Given the description of an element on the screen output the (x, y) to click on. 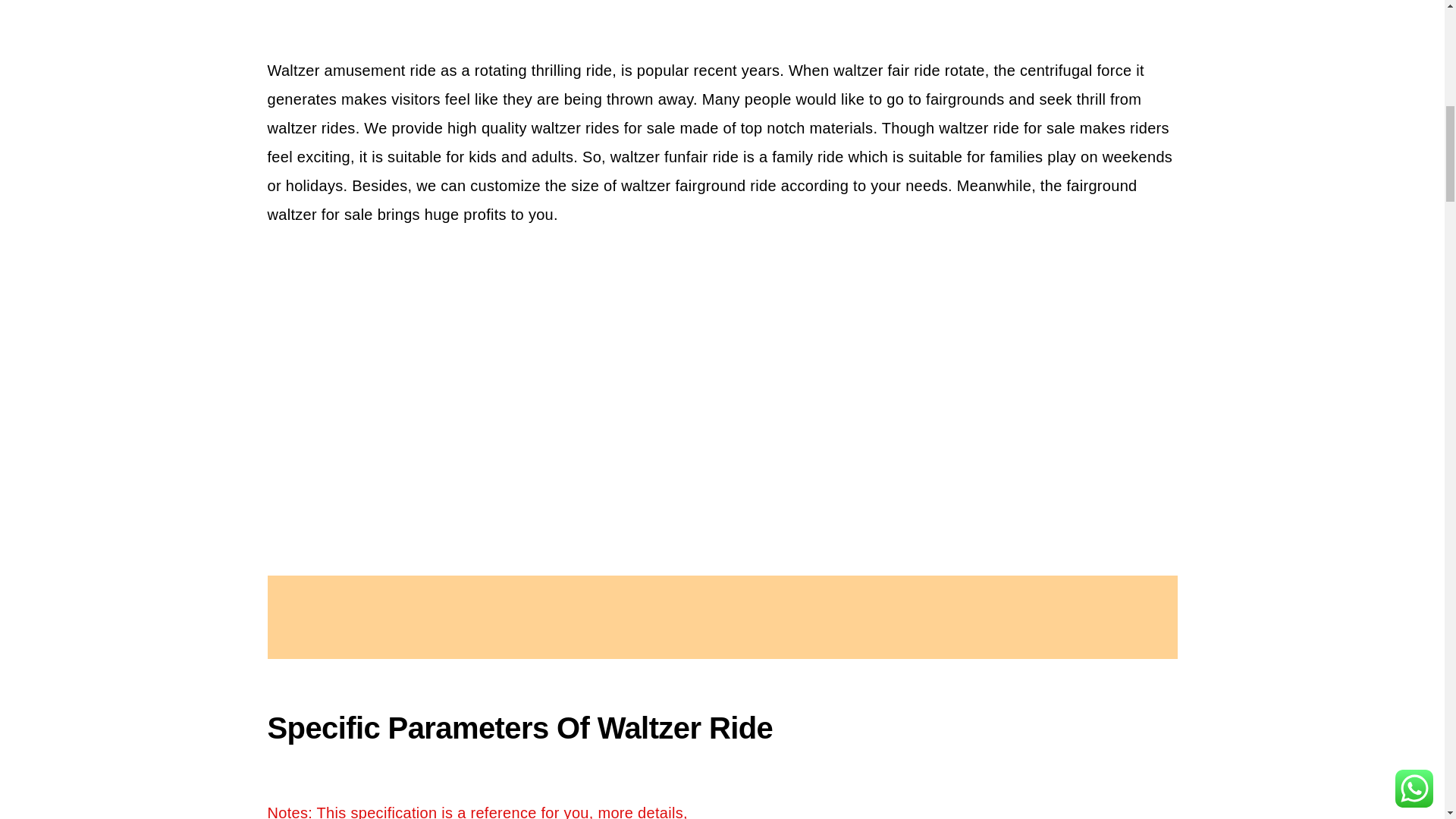
YouTube video player 1 (722, 380)
